Given the description of an element on the screen output the (x, y) to click on. 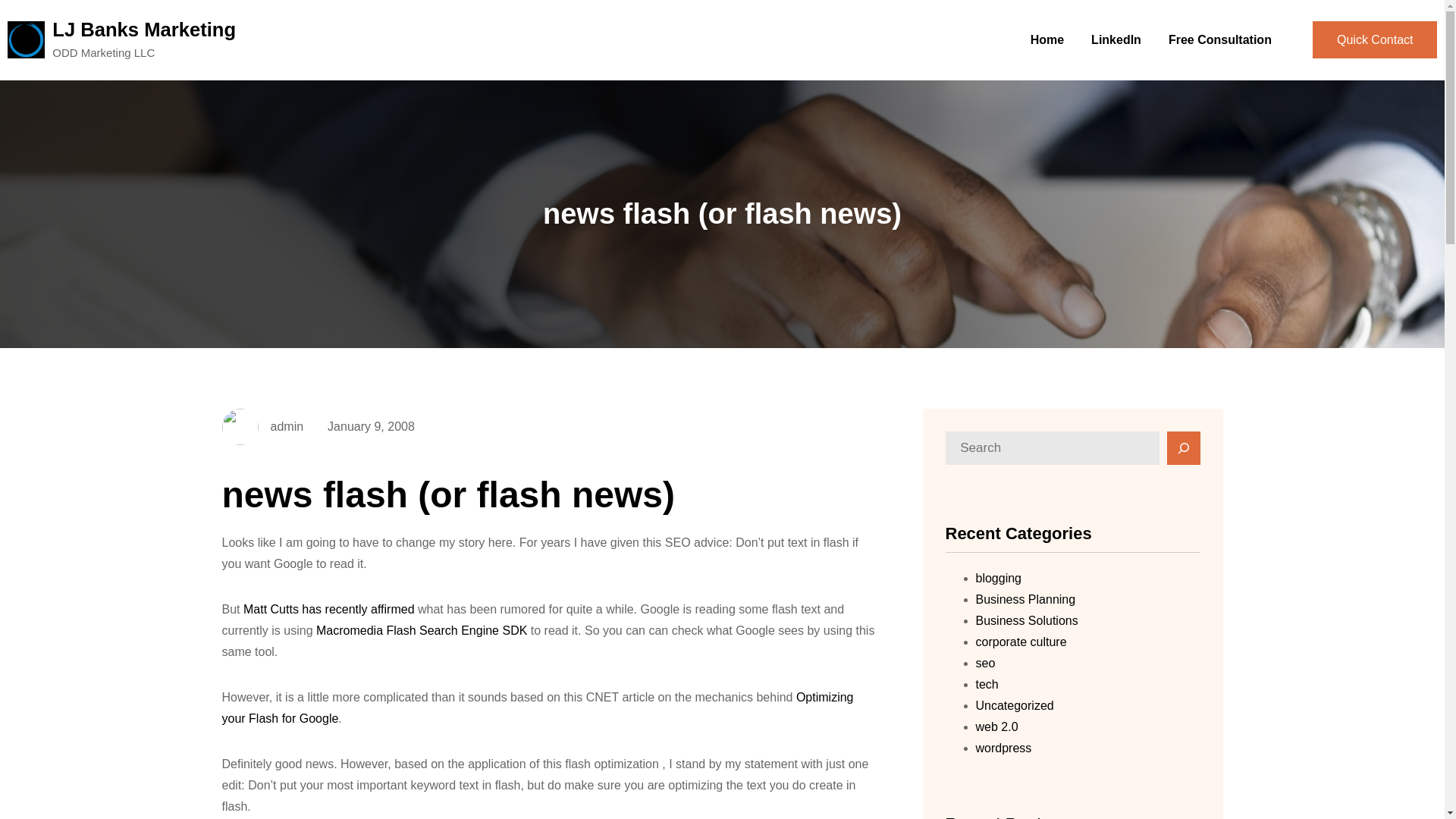
Free Consultation (1220, 39)
corporate culture (1020, 641)
seo (984, 662)
LinkedIn (1115, 39)
tech (986, 684)
LJ Banks Marketing (143, 29)
web 2.0 (996, 726)
wordpress (1002, 748)
Uncategorized (1013, 705)
Matt Cutts has recently affirmed (328, 608)
Macromedia Flash Search Engine SDK (421, 630)
Business Solutions (1026, 620)
blogging (998, 577)
Business Planning (1025, 599)
Quick Contact (1375, 39)
